Given the description of an element on the screen output the (x, y) to click on. 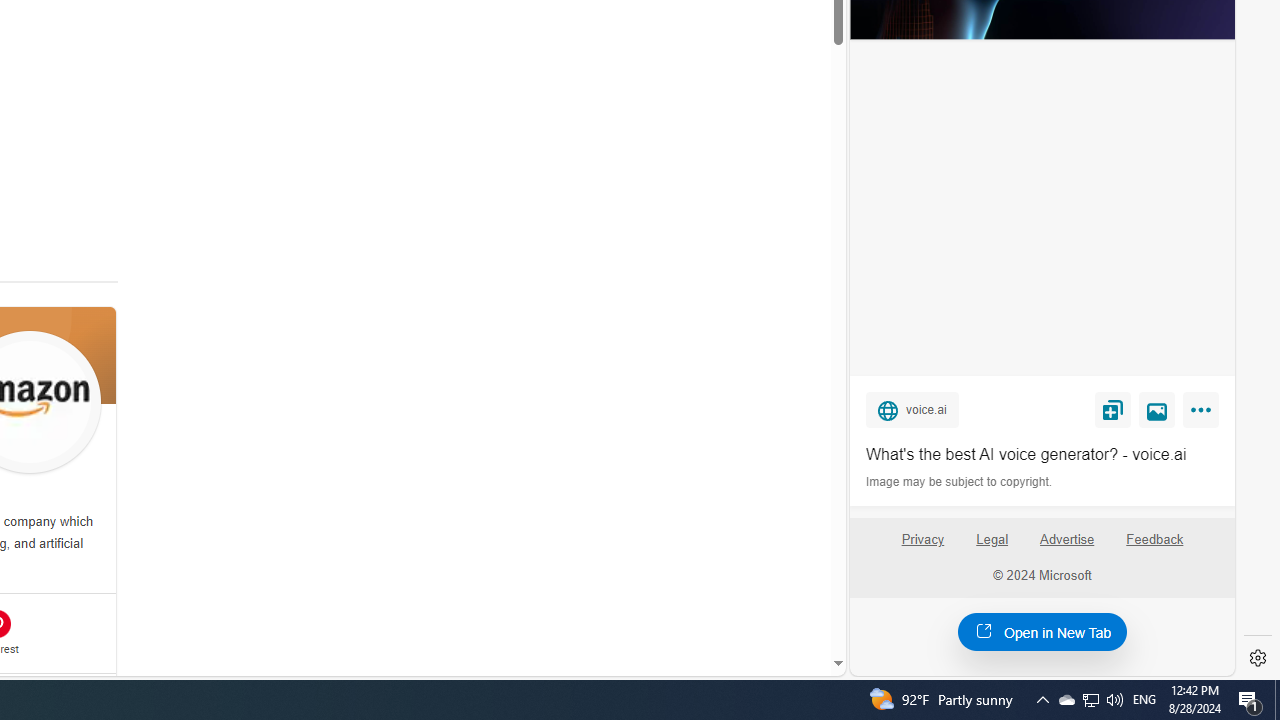
Image may be subject to copyright. (959, 481)
Feedback (1154, 547)
Search more (792, 604)
Advertise (1066, 539)
Settings (1258, 658)
voice.ai (912, 409)
More (1204, 413)
Advertise (1067, 547)
View image (1157, 409)
Save (1112, 409)
Open in New Tab (1042, 631)
Legal (992, 547)
AutomationID: mfa_root (762, 603)
What's the best AI voice generator? - voice.ai (1042, 454)
